Given the description of an element on the screen output the (x, y) to click on. 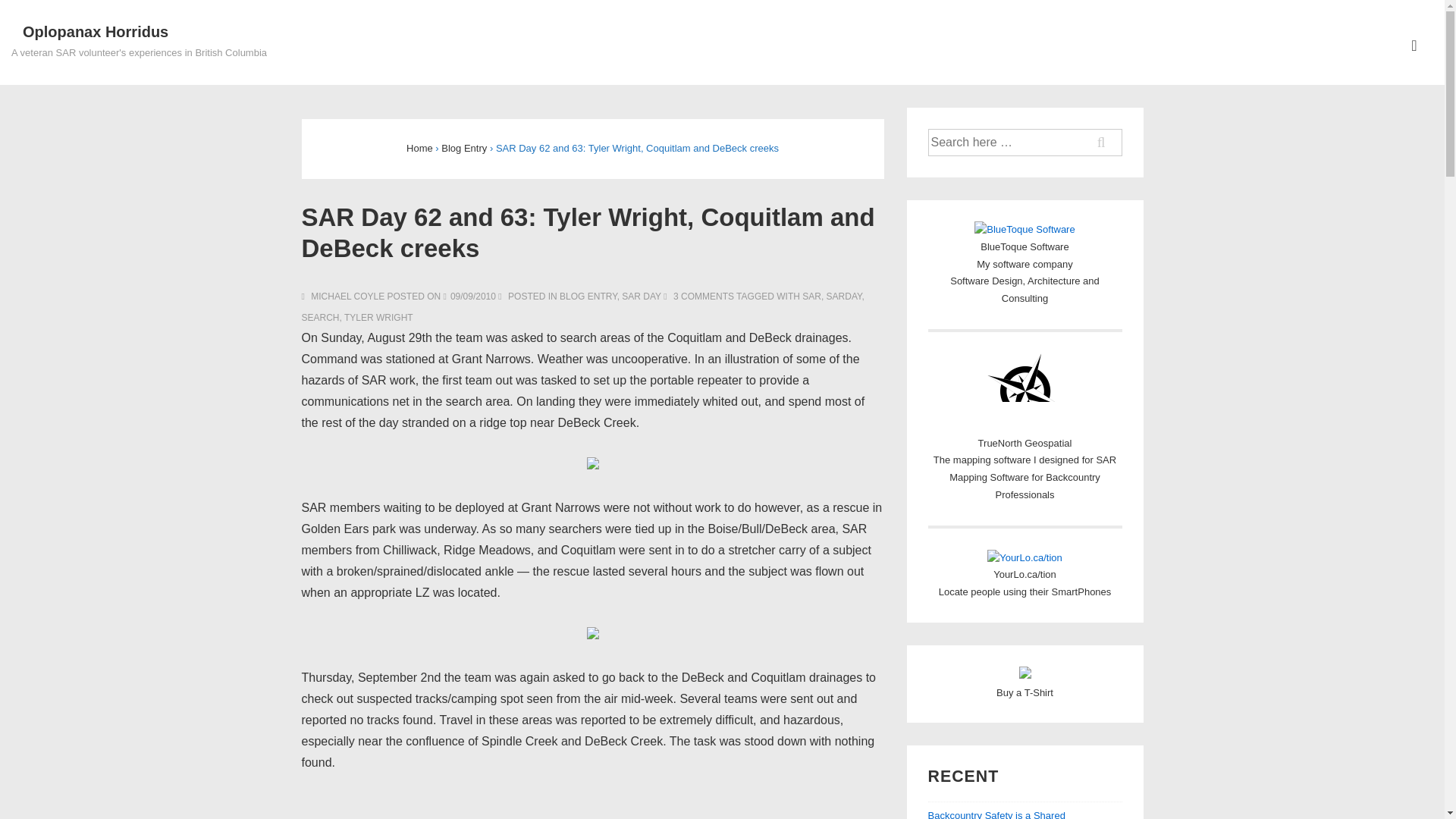
MENU (1414, 45)
SAR Day 62 and 63: Tyler Wright, Coquitlam and DeBeck creeks (472, 296)
SARDAY (844, 296)
Oplopanax Horridus (95, 31)
3 COMMENTS (702, 296)
Blog Entry (463, 147)
BLOG ENTRY (588, 296)
SAR (811, 296)
View all posts by Michael Coyle (344, 296)
Home (419, 147)
SAR DAY (641, 296)
MICHAEL COYLE (344, 296)
